Given the description of an element on the screen output the (x, y) to click on. 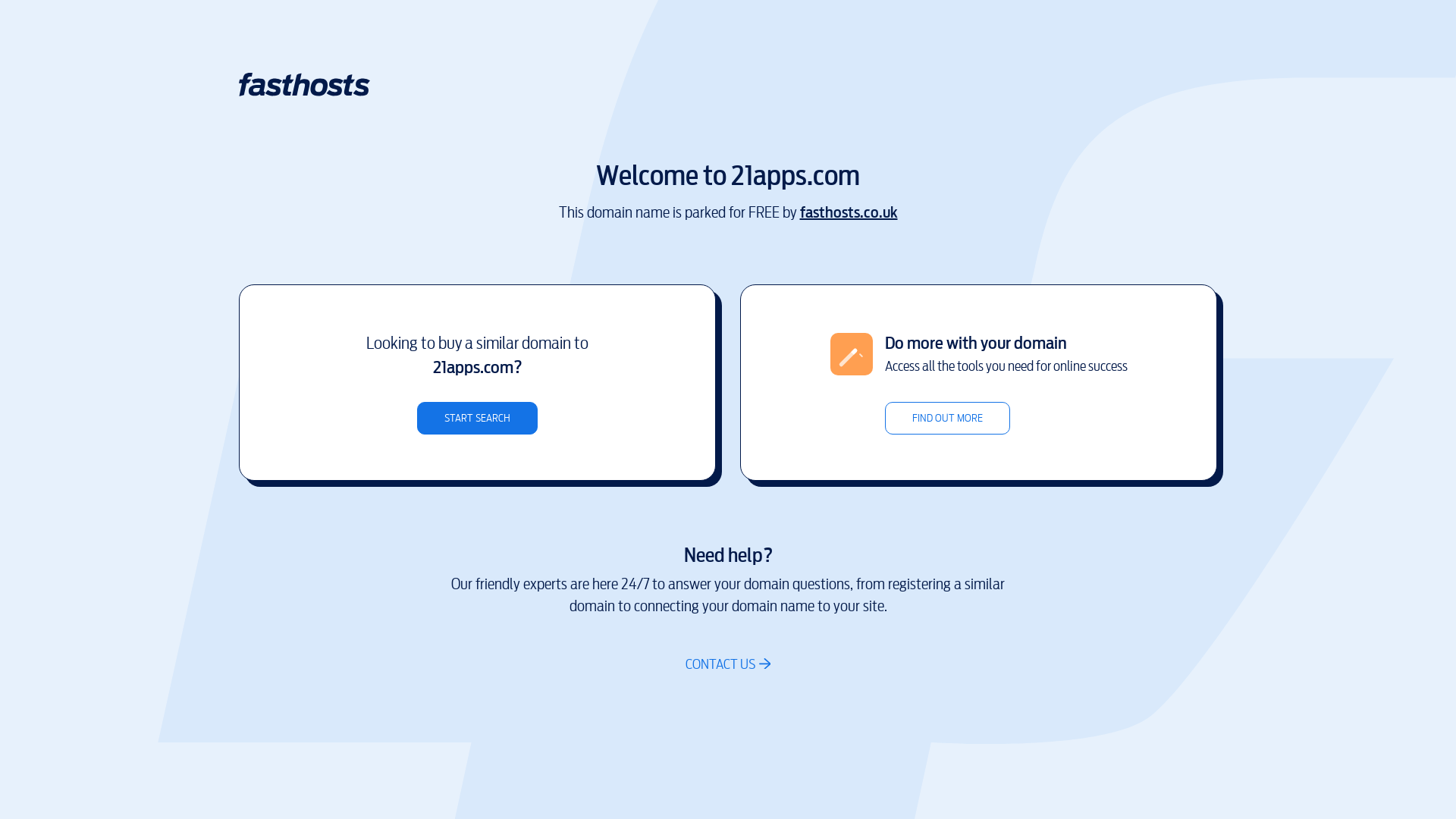
fasthosts.co.uk Element type: text (848, 212)
FIND OUT MORE Element type: text (946, 417)
CONTACT US Element type: text (727, 663)
START SEARCH Element type: text (477, 417)
